Given the description of an element on the screen output the (x, y) to click on. 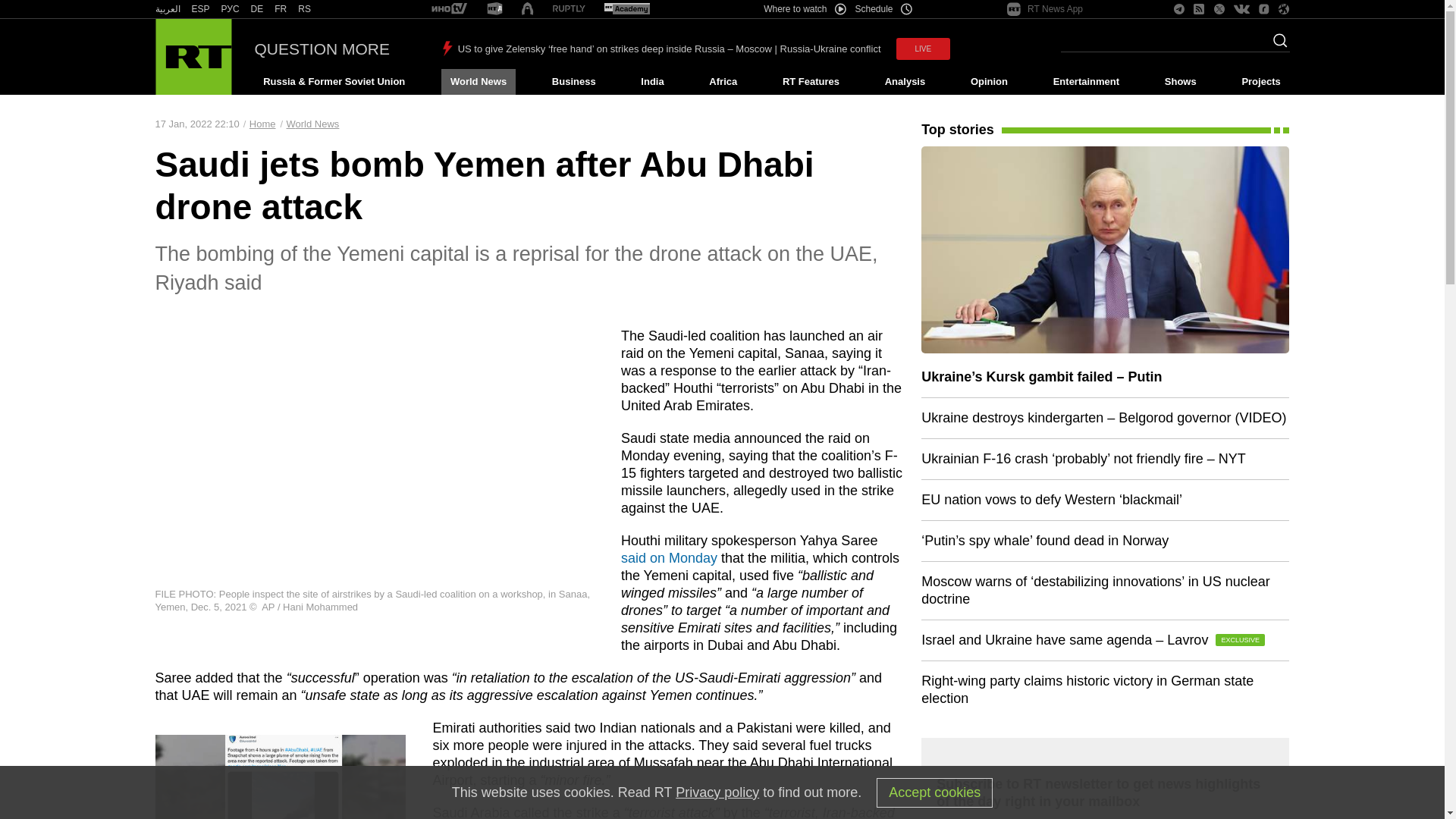
RT  (494, 9)
RT News App (1045, 9)
RT  (280, 9)
RT Features (810, 81)
Schedule (884, 9)
RT  (230, 9)
World News (478, 81)
RT  (569, 8)
ESP (199, 9)
Africa (722, 81)
